Given the description of an element on the screen output the (x, y) to click on. 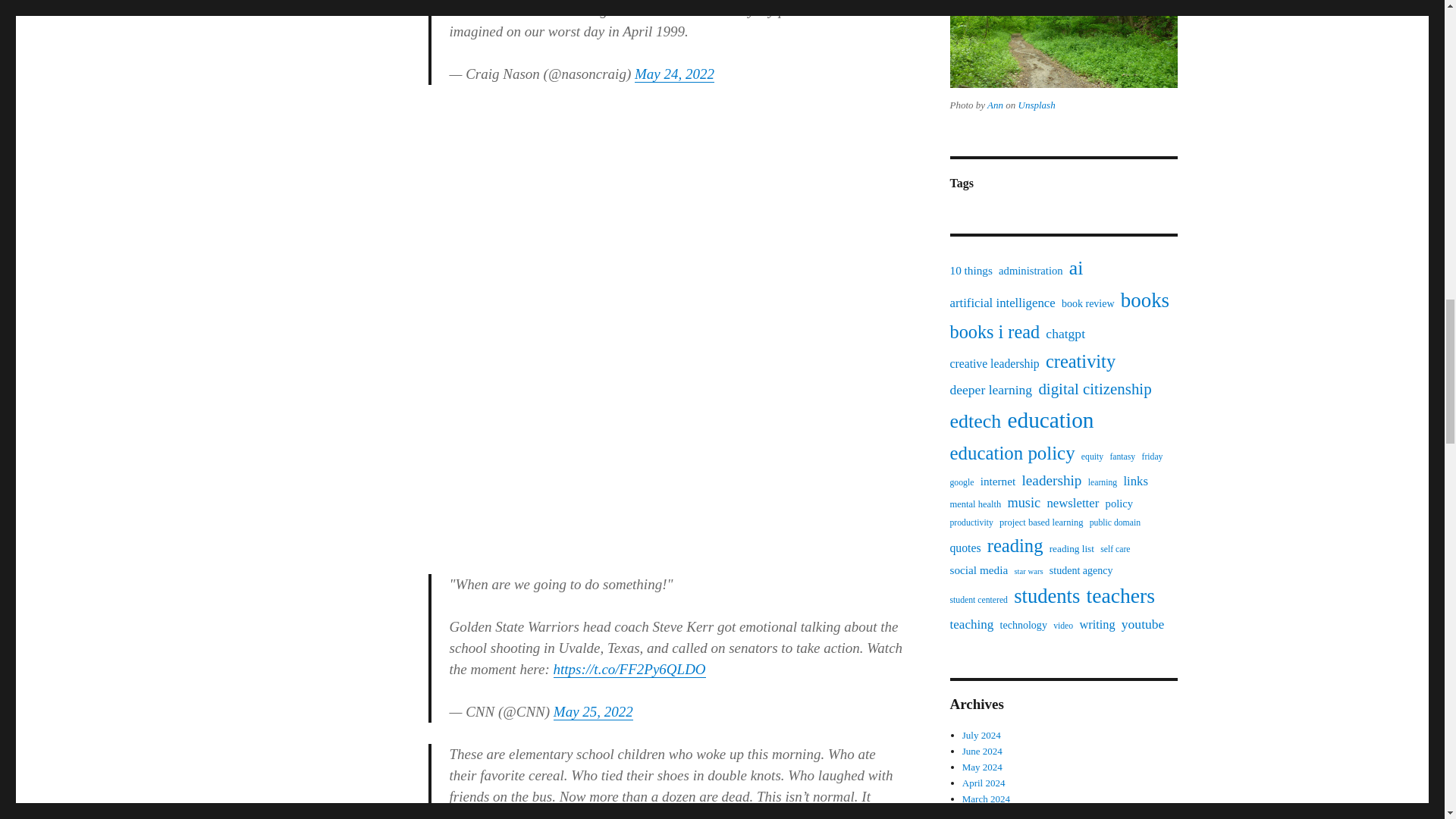
May 24, 2022 (674, 73)
May 25, 2022 (593, 711)
